Given the description of an element on the screen output the (x, y) to click on. 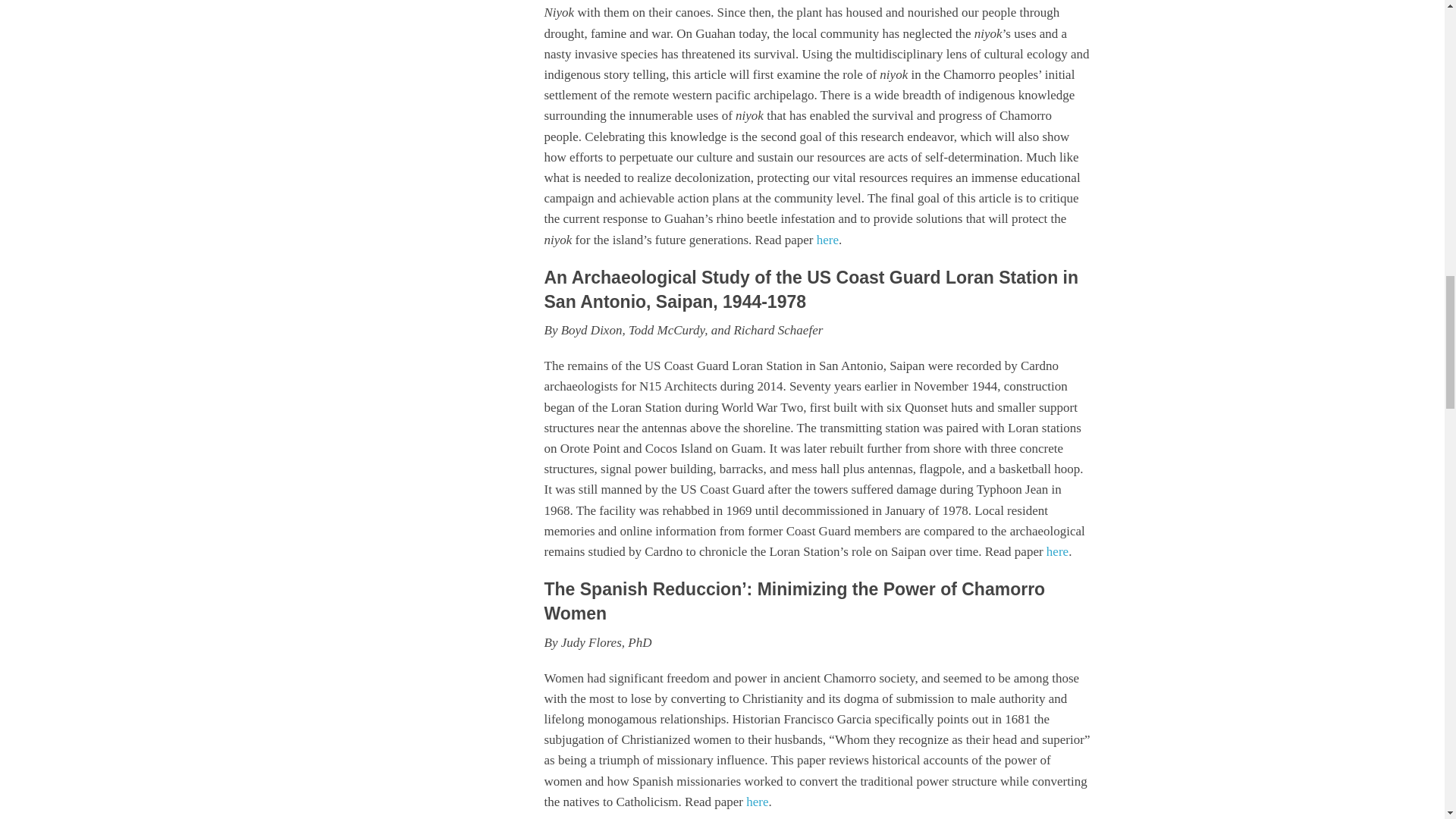
here (827, 238)
here (756, 801)
here (1057, 551)
